Given the description of an element on the screen output the (x, y) to click on. 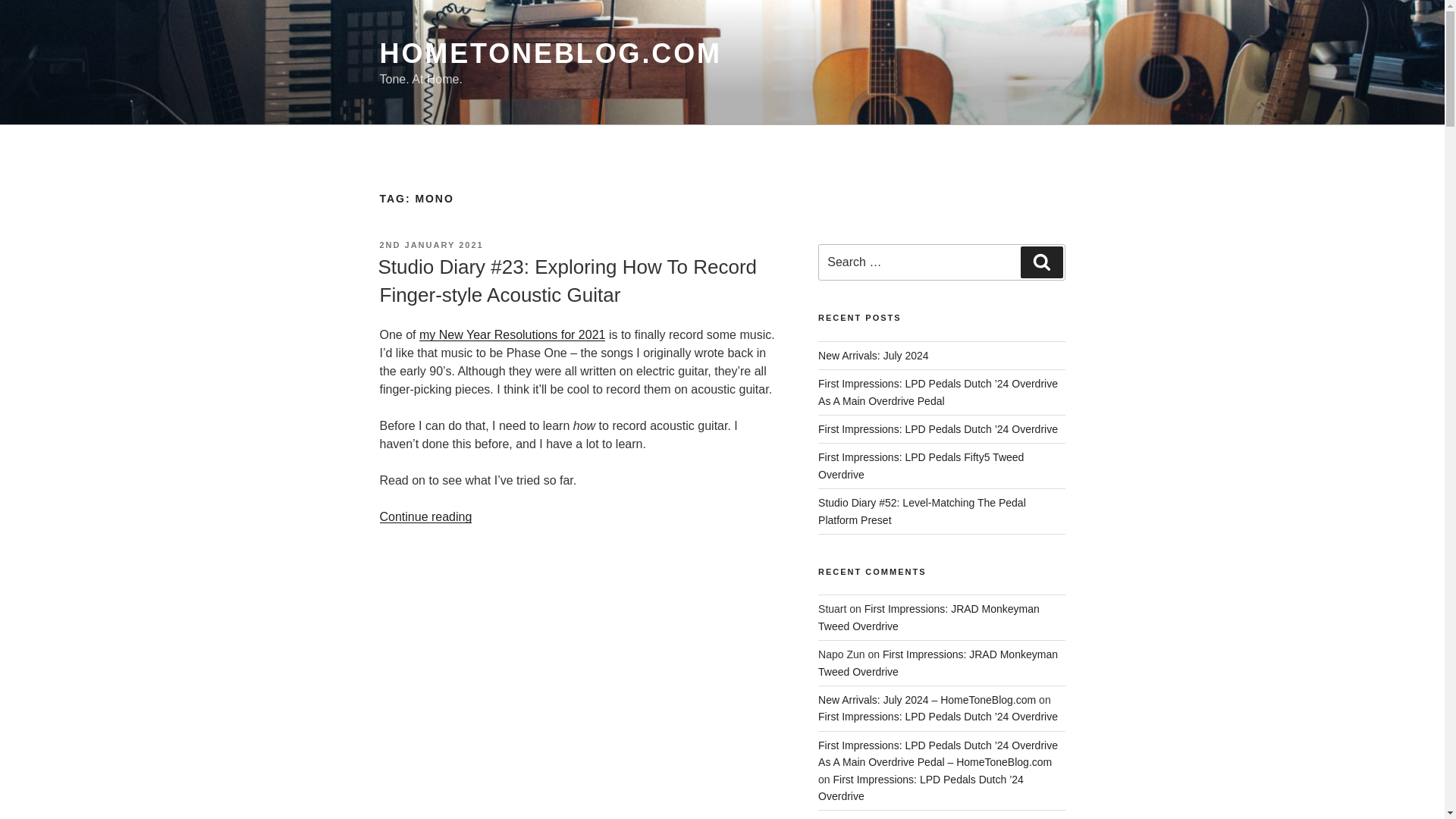
HOMETONEBLOG.COM (549, 52)
Search (1041, 262)
2ND JANUARY 2021 (430, 244)
First Impressions: JRAD Monkeyman Tweed Overdrive (928, 616)
First Impressions: JRAD Monkeyman Tweed Overdrive (938, 662)
First Impressions: LPD Pedals Fifty5 Tweed Overdrive (920, 465)
New Arrivals: July 2024 (873, 355)
my New Year Resolutions for 2021 (512, 334)
